Given the description of an element on the screen output the (x, y) to click on. 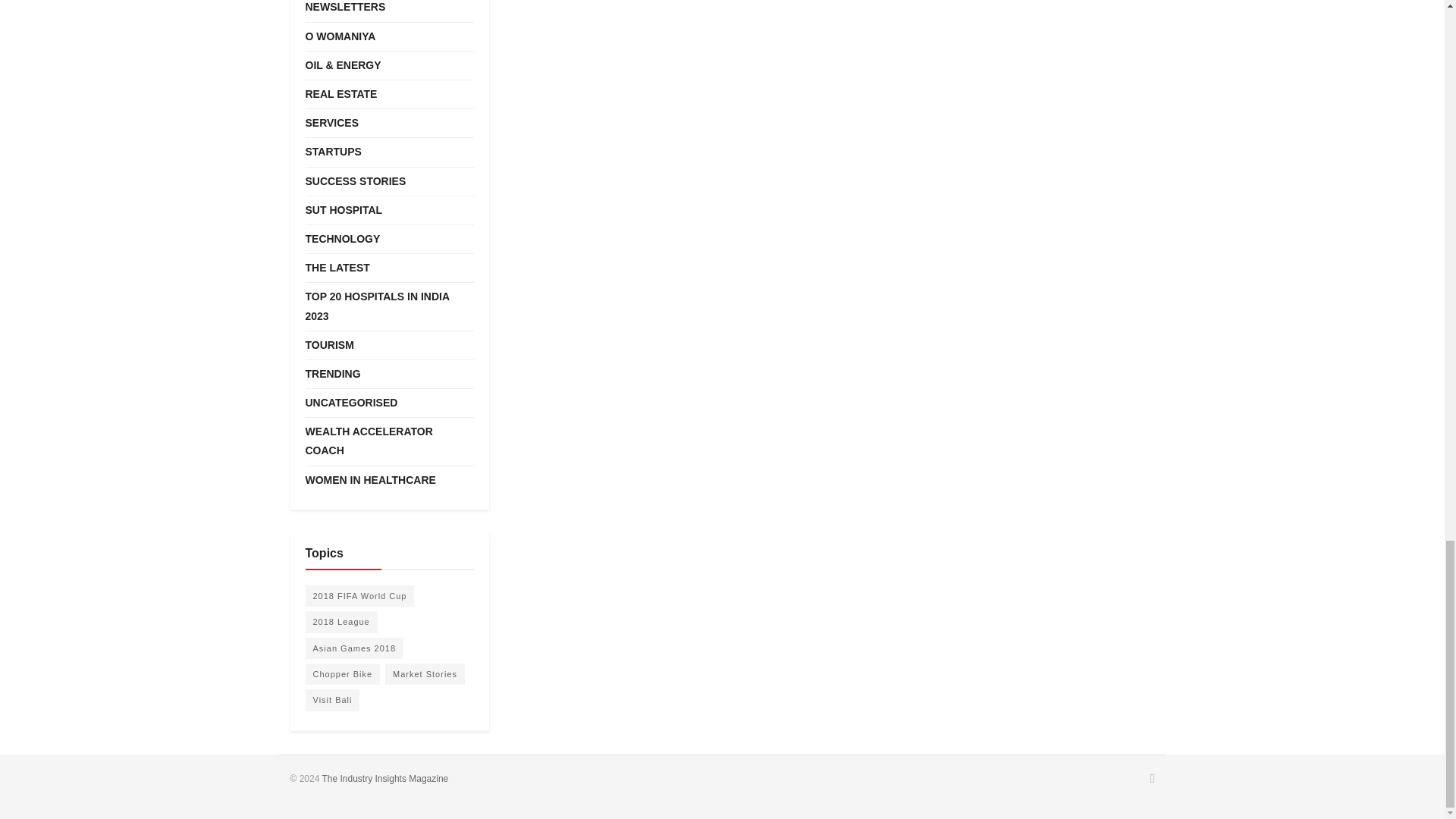
The Industry Insights (384, 778)
